Given the description of an element on the screen output the (x, y) to click on. 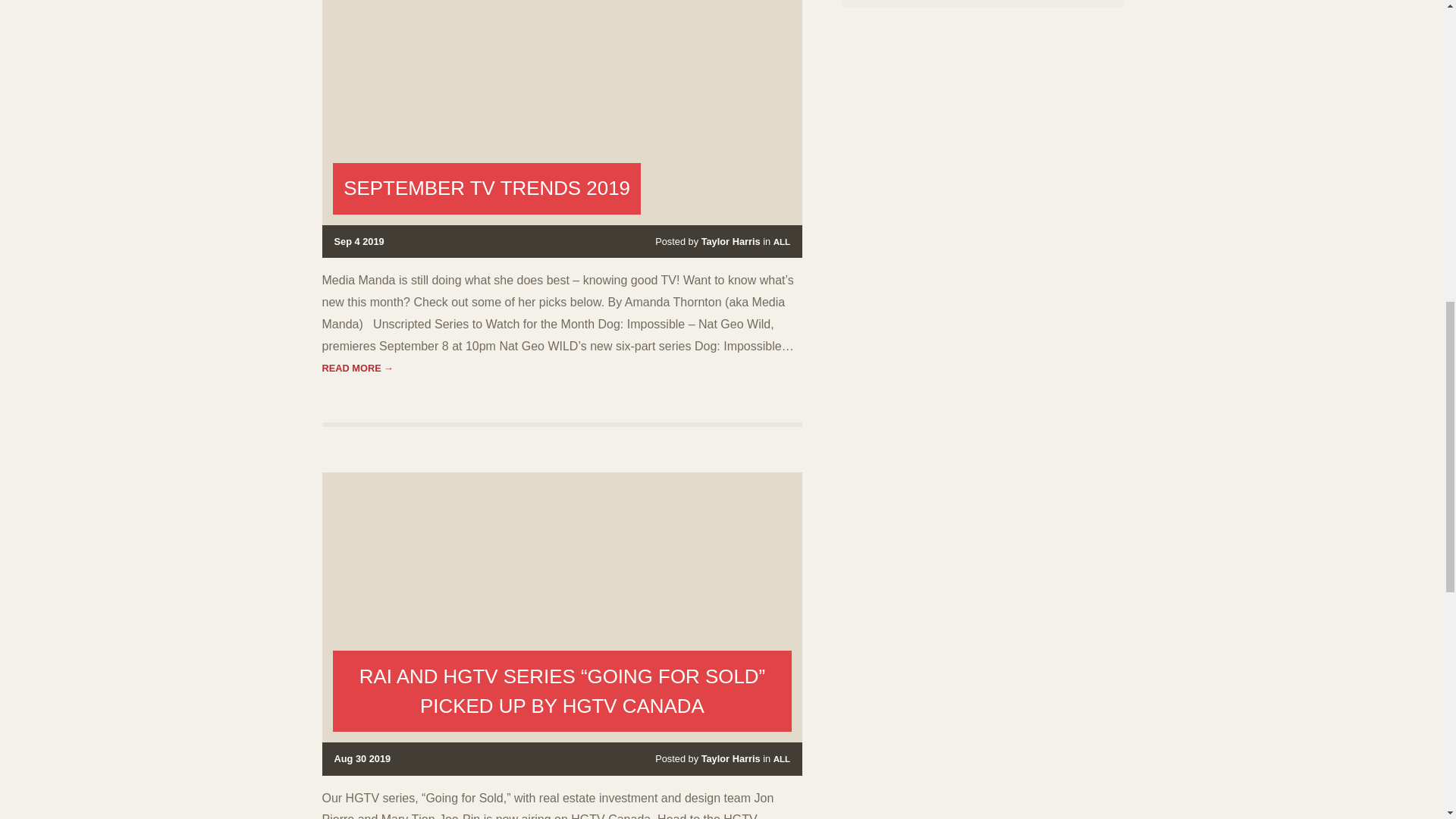
ALL (781, 241)
SEPTEMBER TV TRENDS 2019 (486, 188)
ALL (781, 758)
